Given the description of an element on the screen output the (x, y) to click on. 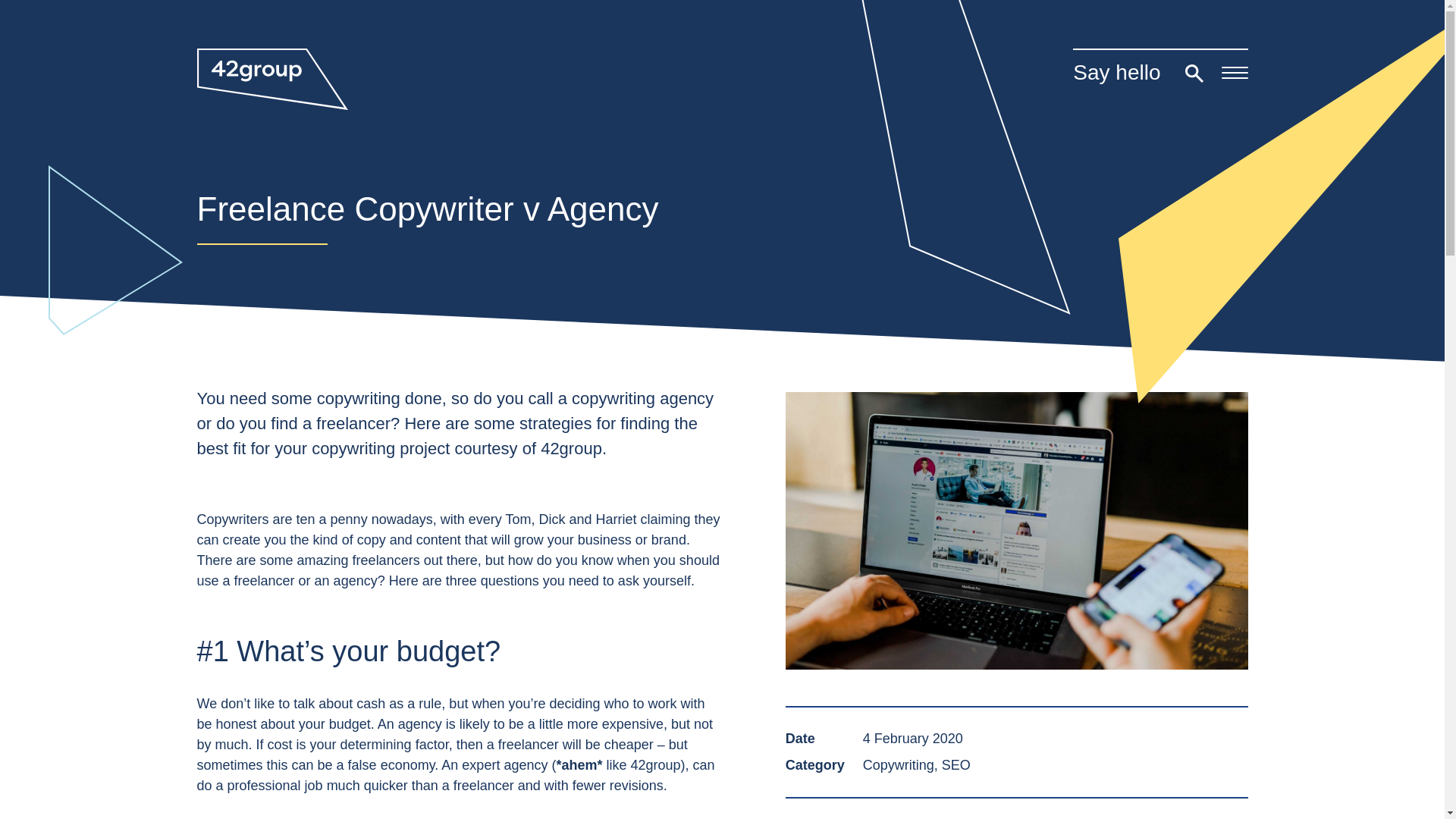
Say hello (1116, 73)
Copywriting (898, 765)
SEO (956, 765)
